Given the description of an element on the screen output the (x, y) to click on. 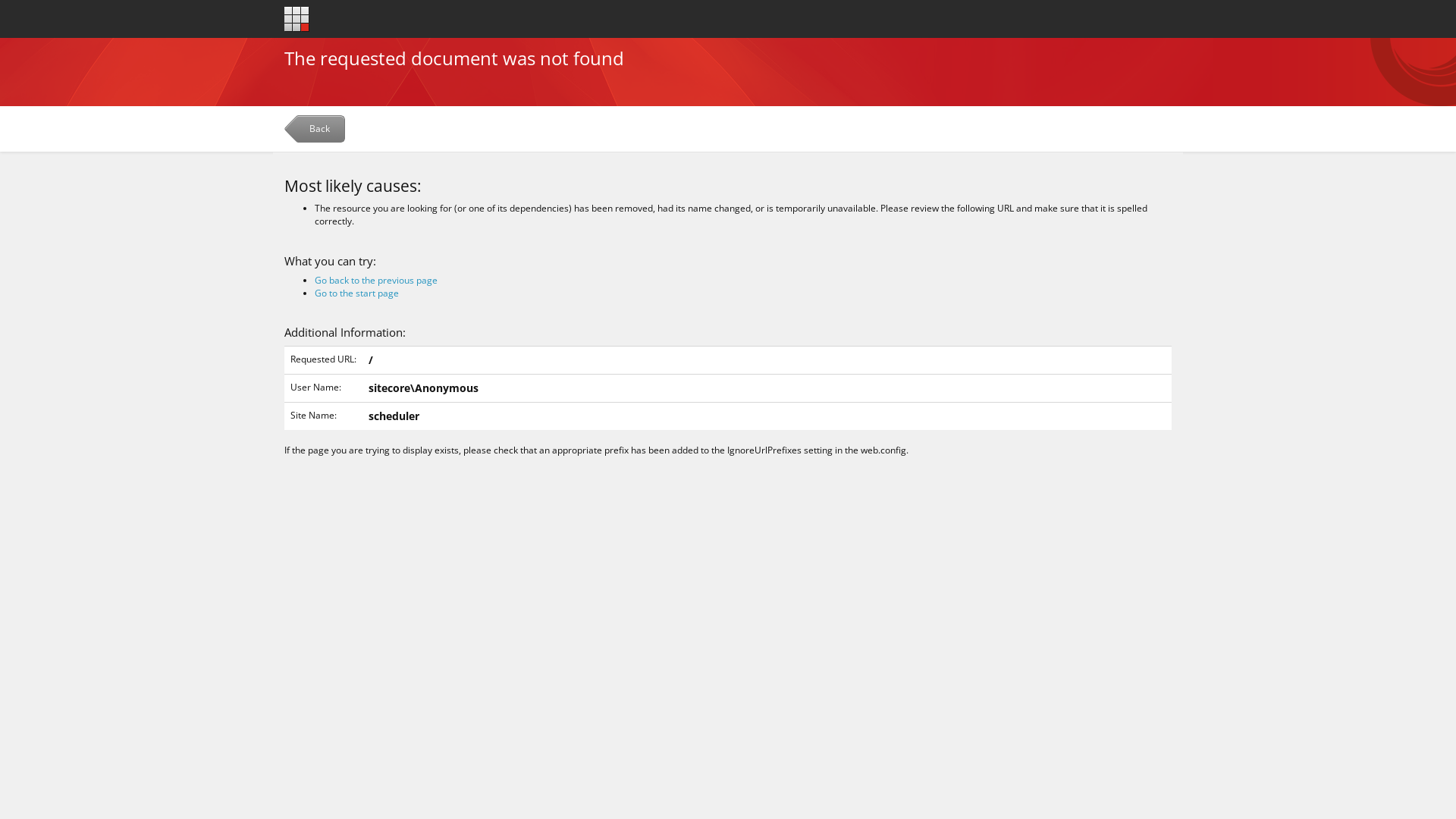
Go to the start page Element type: hover (296, 18)
Go to the start page Element type: text (356, 292)
Back Element type: text (316, 131)
Go back to the previous page Element type: text (375, 279)
